Given the description of an element on the screen output the (x, y) to click on. 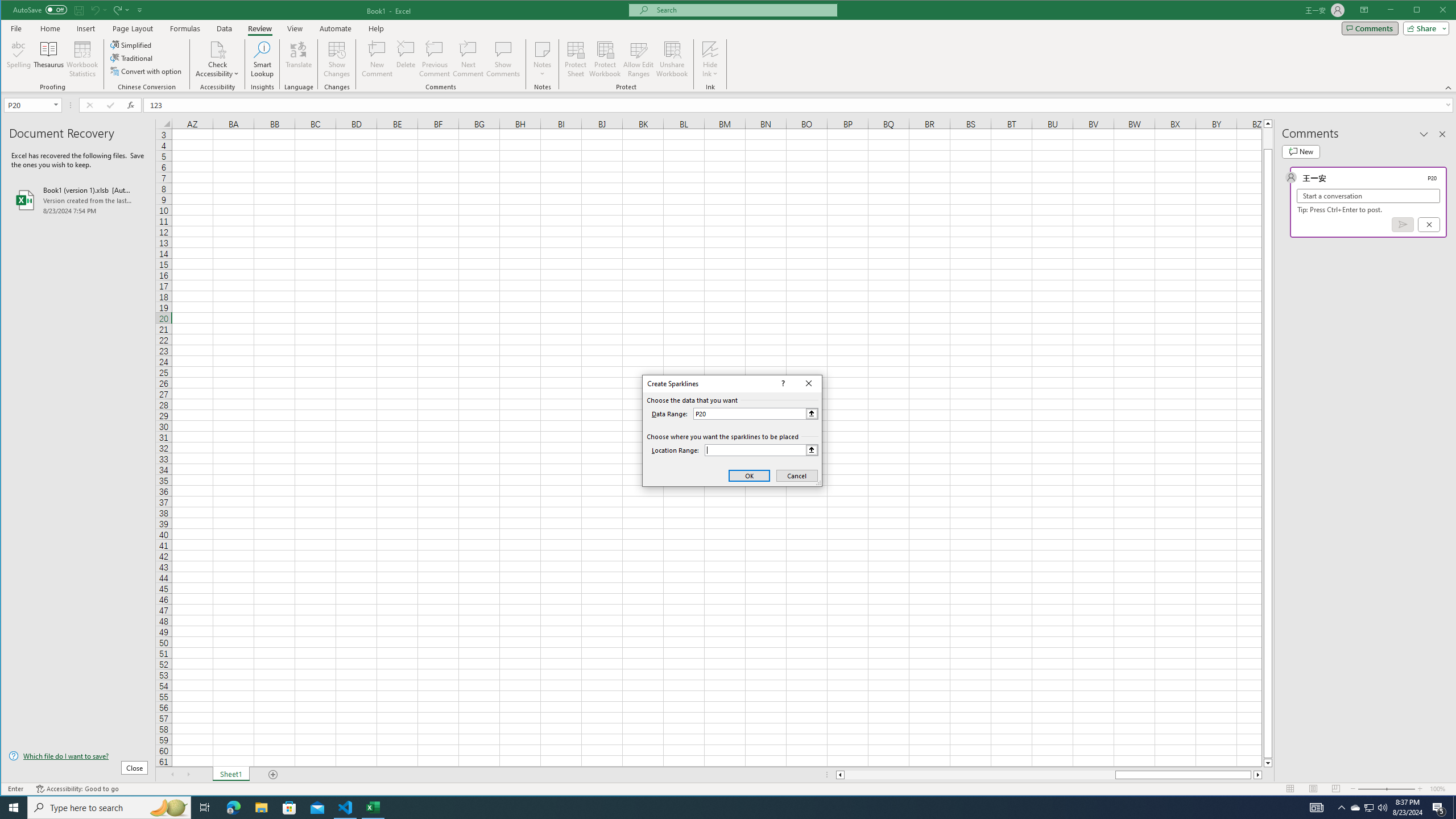
Notification Chevron (1341, 807)
Book1 (version 1).xlsb  [AutoRecovered] (78, 199)
